Given the description of an element on the screen output the (x, y) to click on. 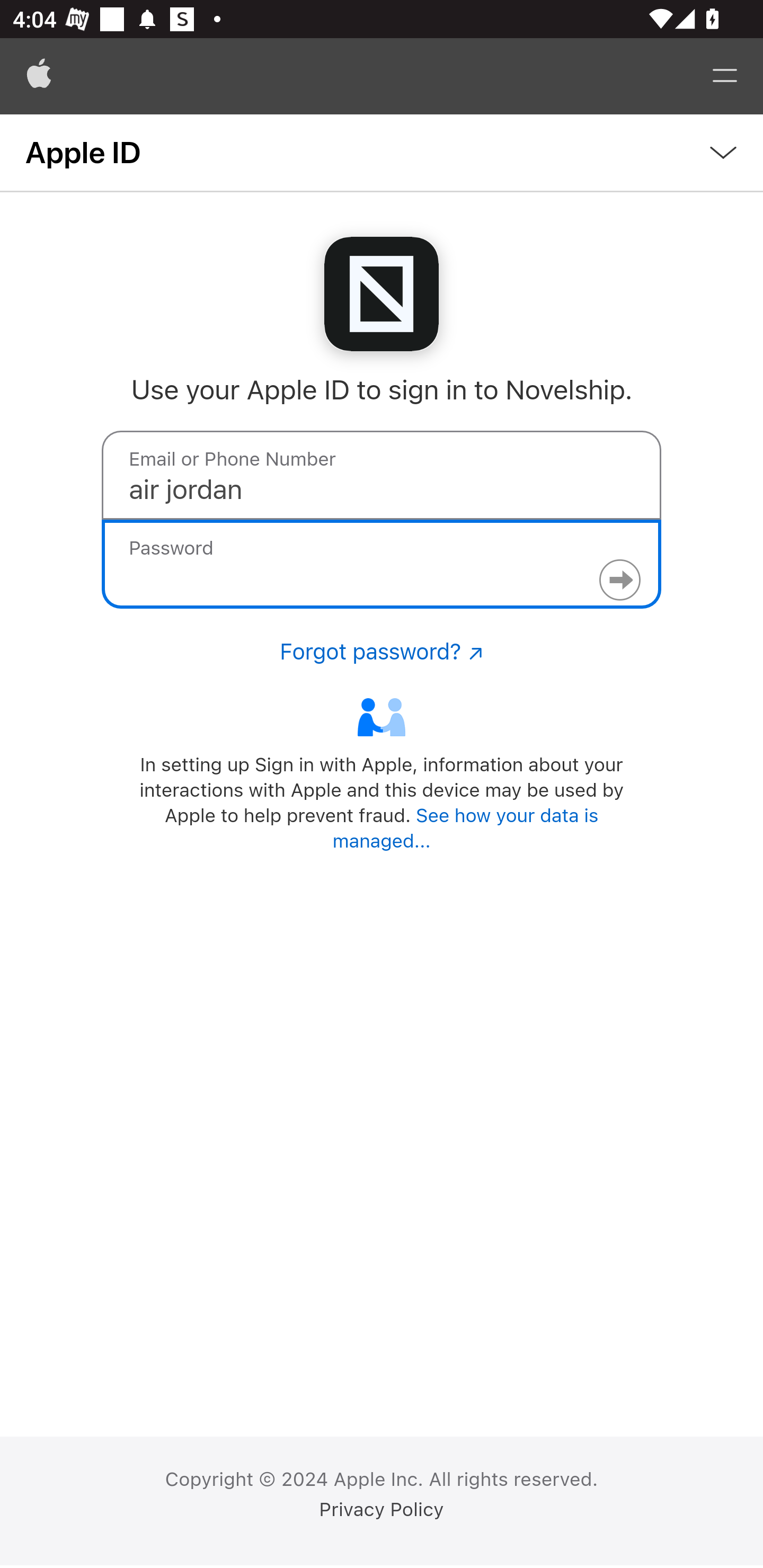
Apple (38, 75)
Menu (724, 75)
air jordan (381, 475)
Sign In (618, 579)
Privacy Policy (381, 1509)
